Given the description of an element on the screen output the (x, y) to click on. 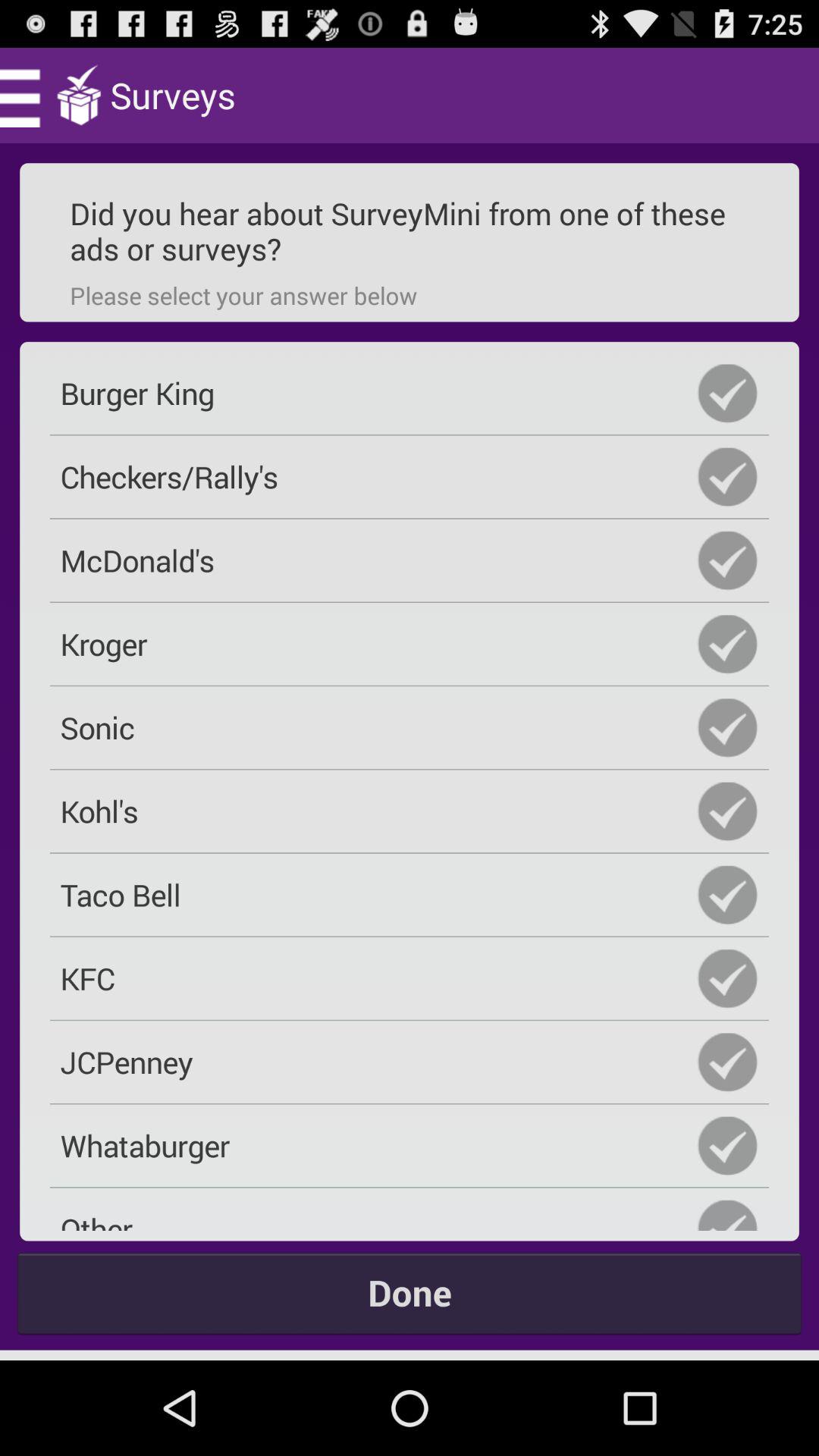
flip until the other (409, 1214)
